Given the description of an element on the screen output the (x, y) to click on. 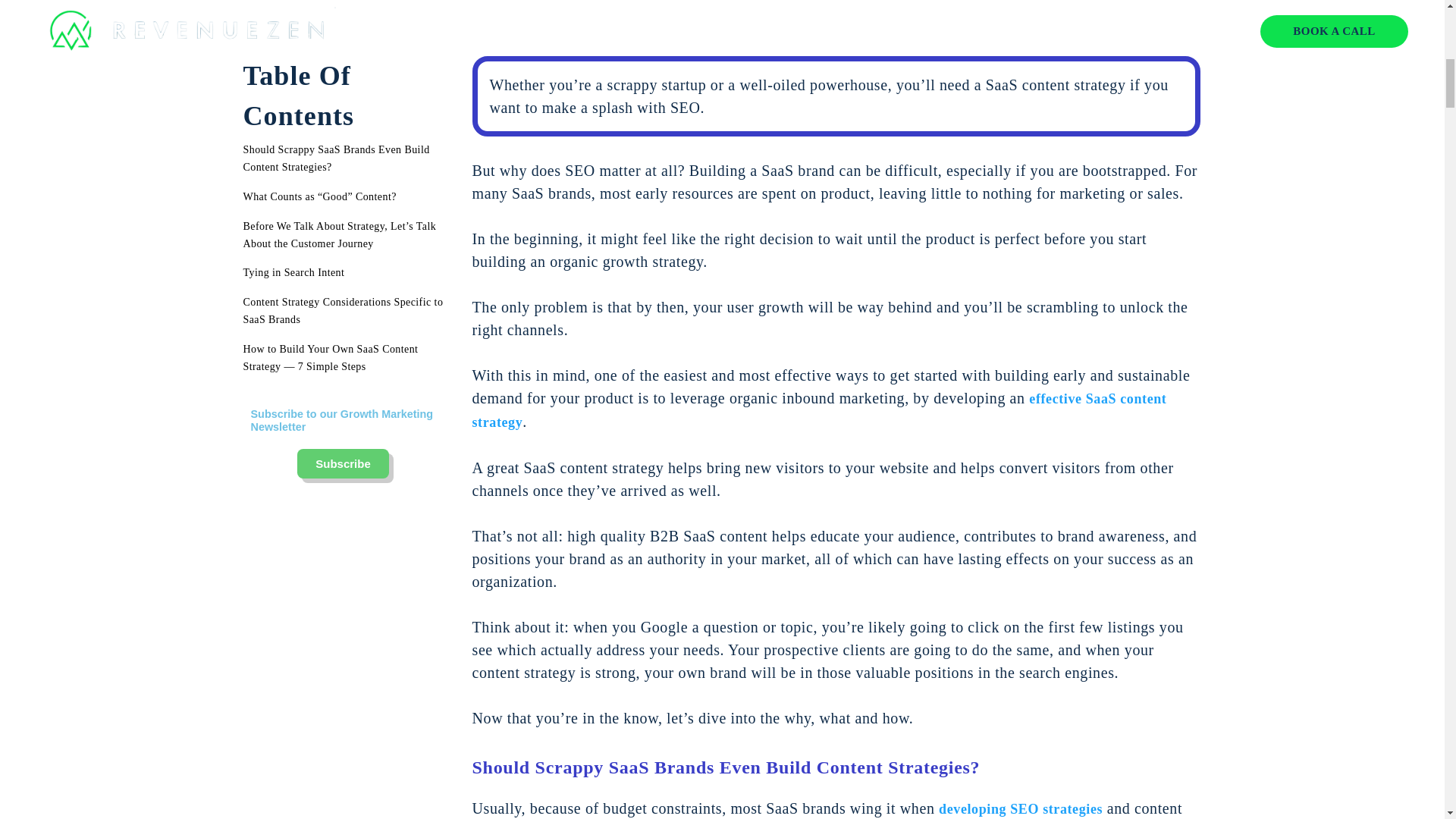
Subscribe (342, 463)
Content Strategy Considerations Specific to SaaS Brands (342, 310)
Should Scrappy SaaS Brands Even Build Content Strategies? (336, 157)
Tying in Search Intent (293, 272)
